Given the description of an element on the screen output the (x, y) to click on. 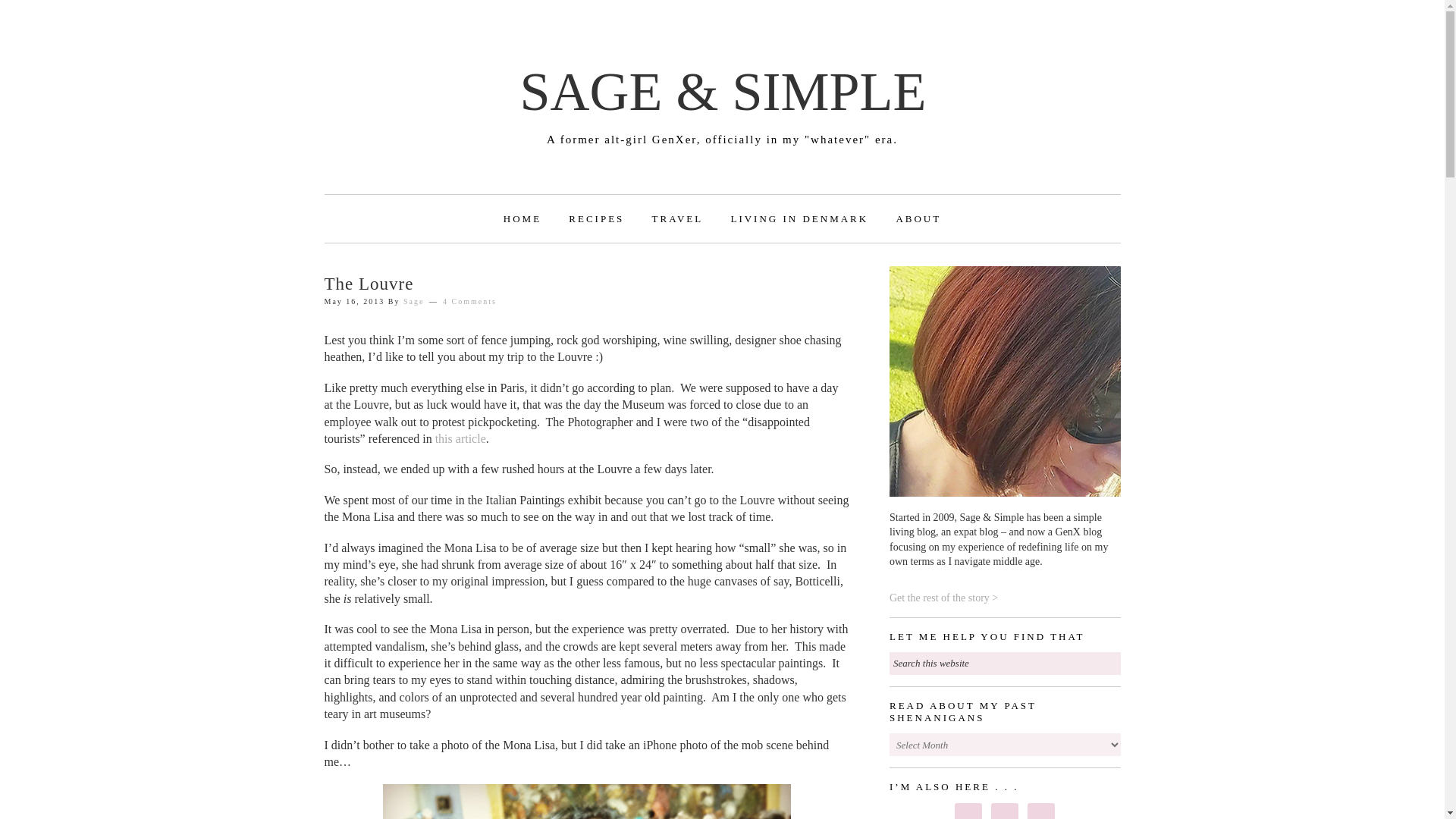
LIVING IN DENMARK (799, 217)
ABOUT (917, 217)
TRAVEL (677, 217)
4 Comments (469, 301)
Childfree Blog (917, 217)
this article (460, 438)
Sage (413, 301)
RECIPES (595, 217)
HOME (522, 217)
